Given the description of an element on the screen output the (x, y) to click on. 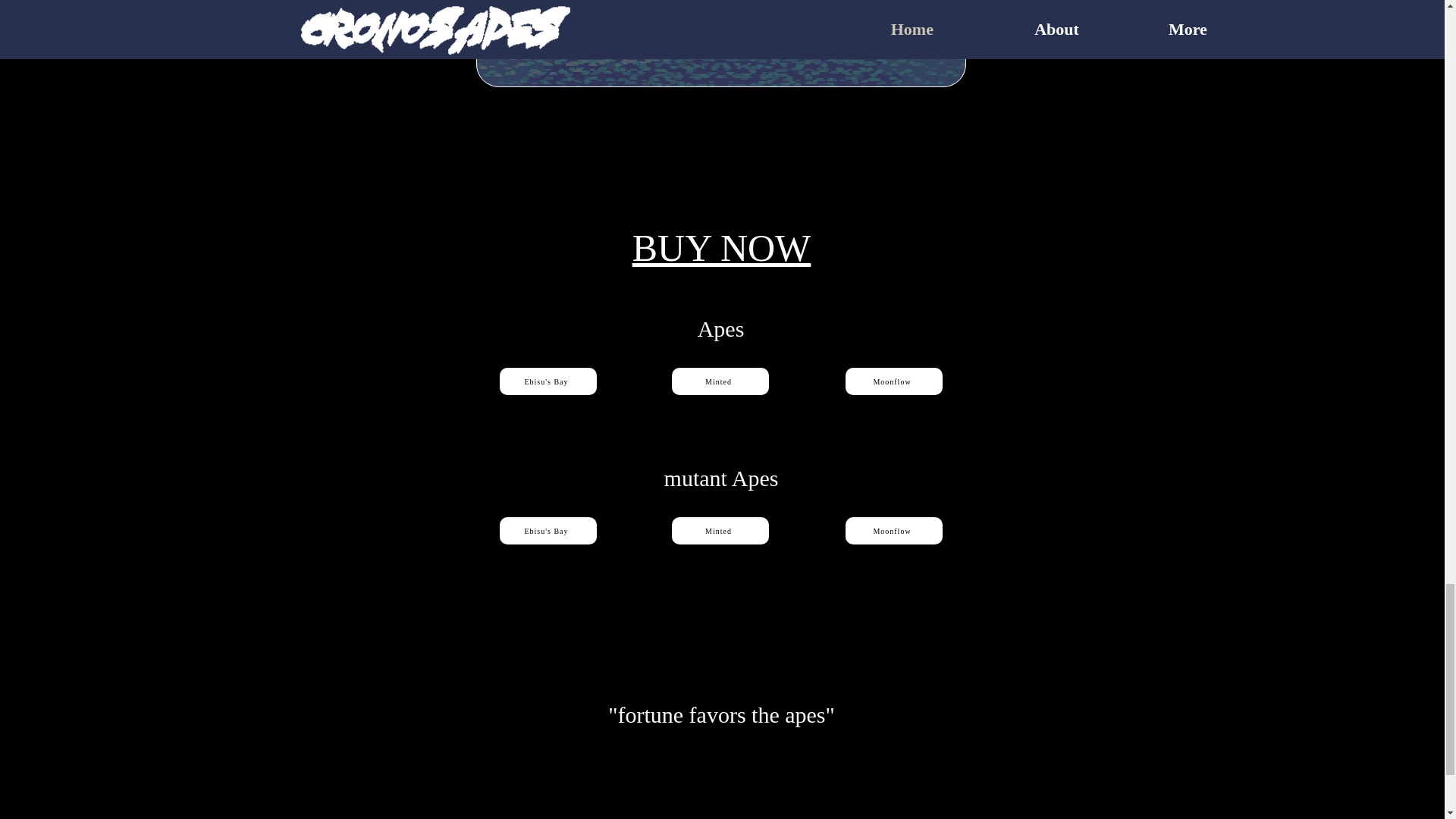
Ebisu's Bay (547, 530)
Lab.gif (721, 43)
Minted (719, 380)
Moonflow (893, 530)
Ebisu's Bay (547, 380)
Minted (719, 530)
Moonflow (893, 380)
